Given the description of an element on the screen output the (x, y) to click on. 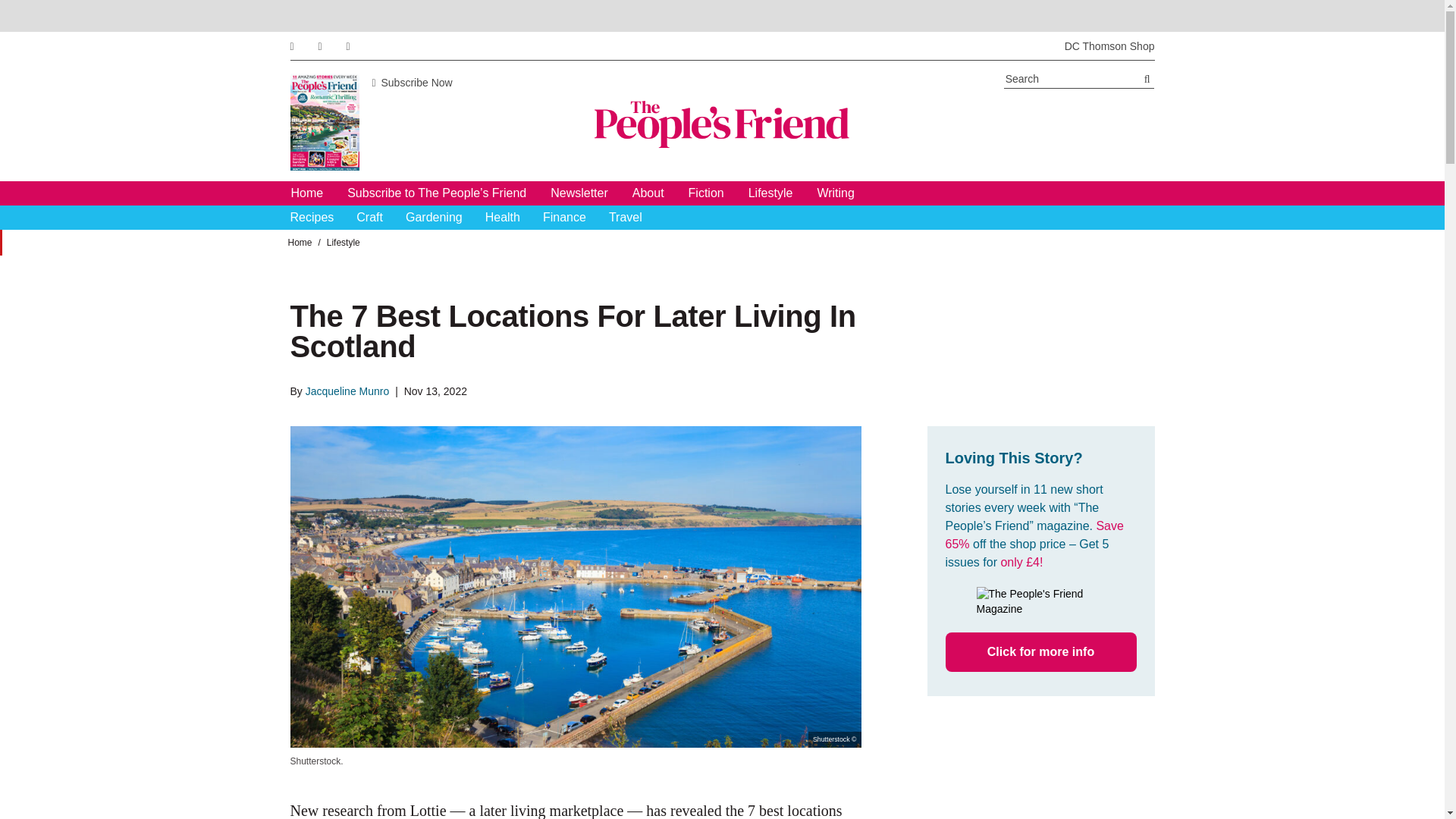
Newsletter (579, 192)
Fiction (705, 192)
Subscribe Now (411, 82)
The People's Friend (722, 124)
Writing (835, 192)
Gardening (434, 217)
Lifestyle (770, 192)
Recipes (311, 217)
About (647, 192)
Finance (564, 217)
